Given the description of an element on the screen output the (x, y) to click on. 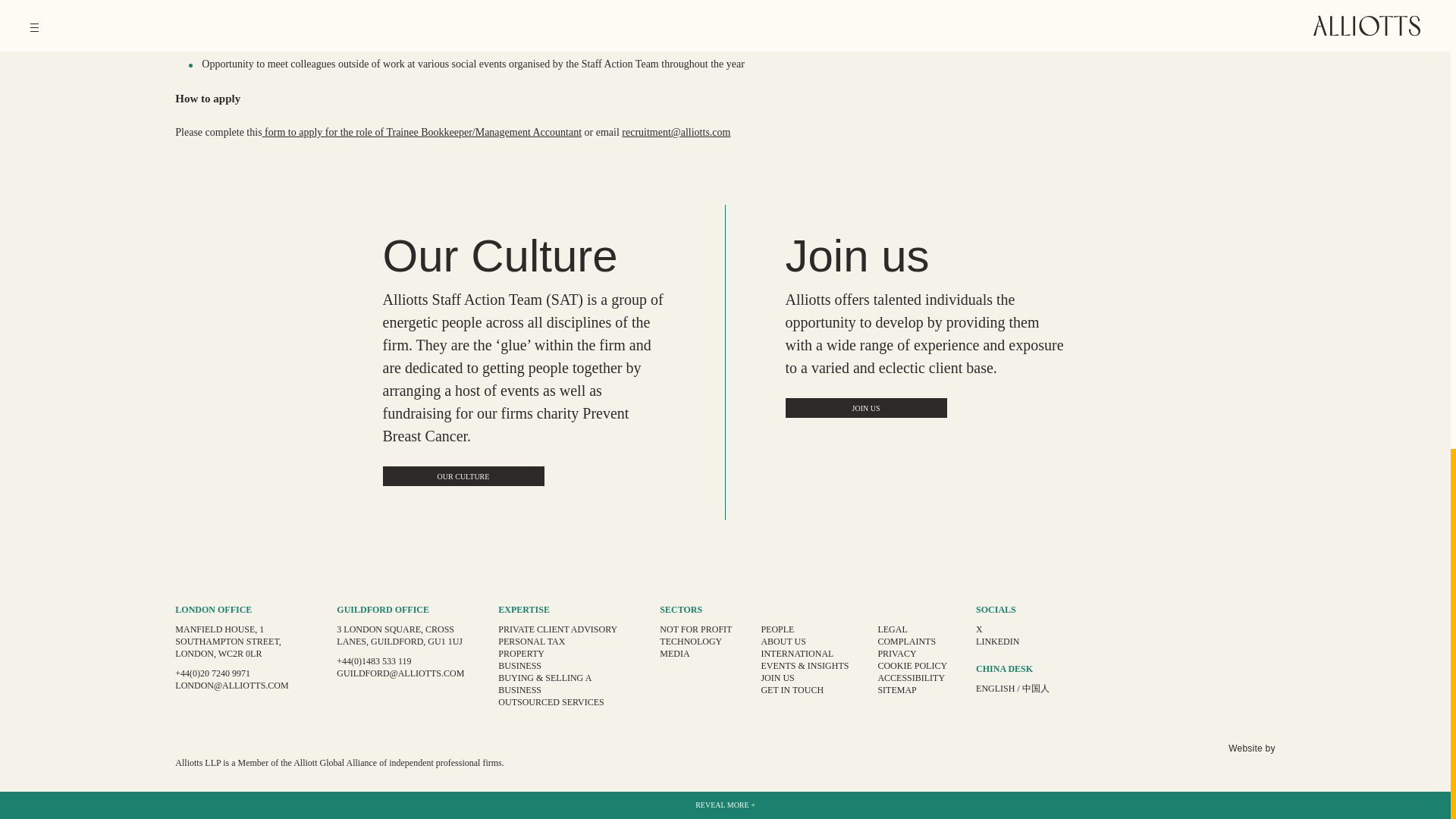
TECHNOLOGY (690, 641)
PERSONAL TAX (530, 641)
MANFIELD HOUSE, 1 SOUTHAMPTON STREET, LONDON, WC2R 0LR (227, 641)
MEDIA (673, 653)
PRIVATE CLIENT ADVISORY (557, 629)
OUR CULTURE (462, 476)
JOIN US (866, 407)
JOIN US (776, 677)
COMPLAINTS (906, 641)
NOT FOR PROFIT (695, 629)
OUTSOURCED SERVICES (550, 701)
EXPERTISE (523, 609)
INTERNATIONAL (796, 653)
BUSINESS (519, 665)
GET IN TOUCH (792, 689)
